Given the description of an element on the screen output the (x, y) to click on. 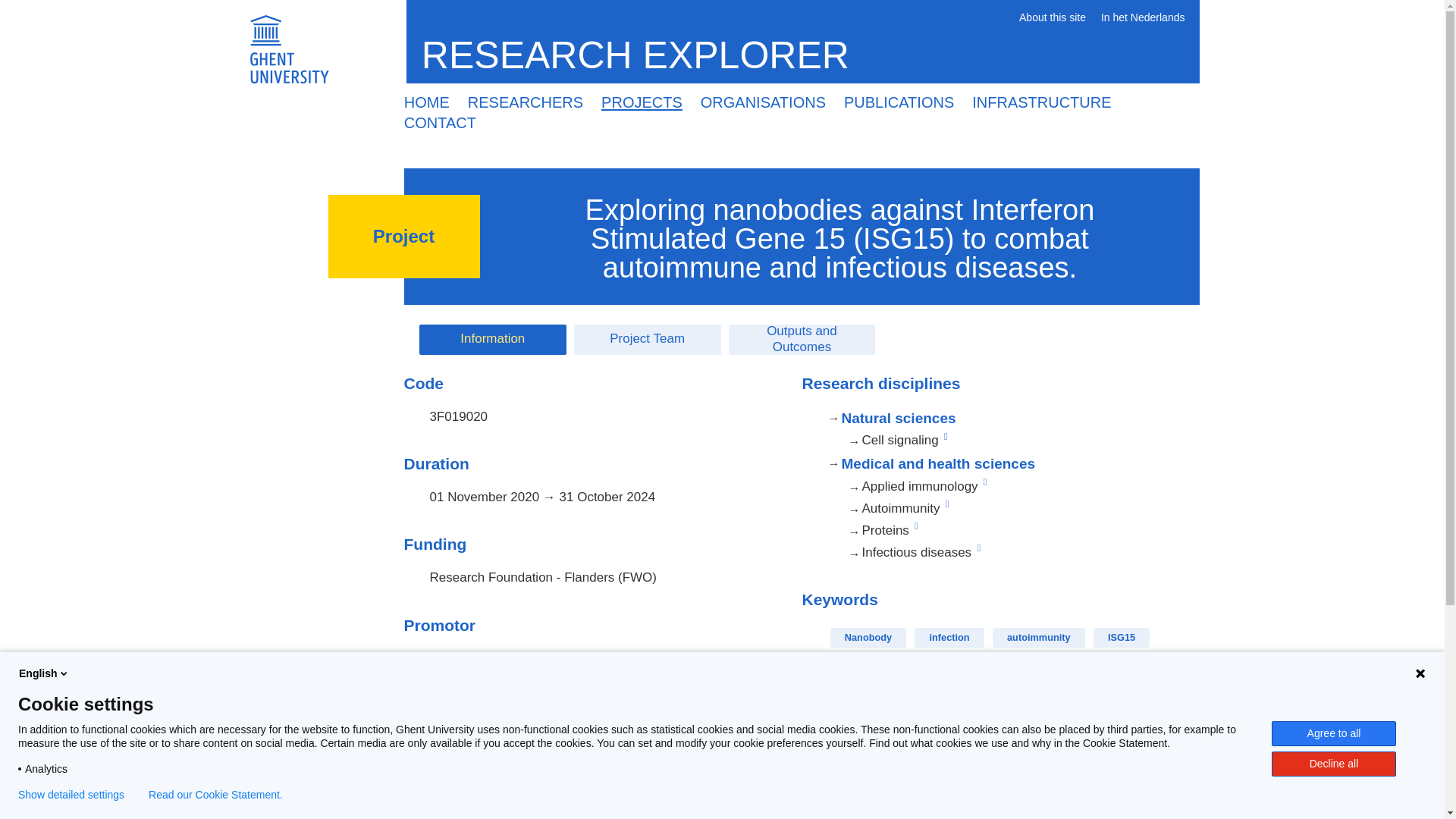
PROJECTS (641, 102)
Outputs and Outcomes (802, 339)
RESEARCHERS (525, 102)
Decline all (1333, 763)
PUBLICATIONS (898, 102)
Information (492, 339)
Project Team (646, 339)
Read our Cookie Statement. (215, 794)
RESEARCH EXPLORER (641, 55)
HOME (426, 102)
Denzel Eggermont (482, 739)
Outputs and Outcomes (802, 339)
In het Nederlands (1142, 17)
About this site (1052, 17)
ORGANISATIONS (762, 102)
